Given the description of an element on the screen output the (x, y) to click on. 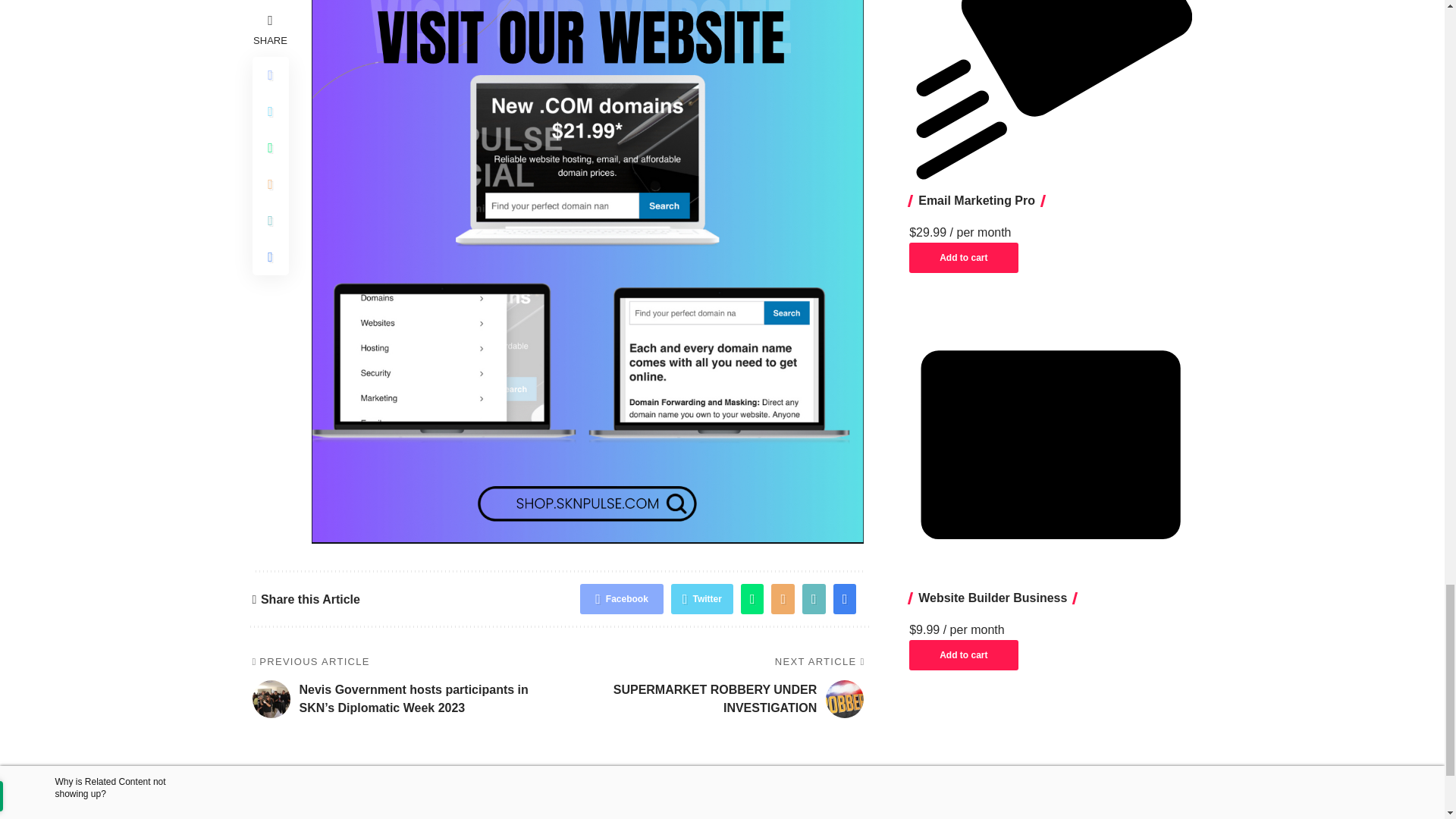
Website Builder (1050, 444)
Email Marketing (1050, 94)
